Given the description of an element on the screen output the (x, y) to click on. 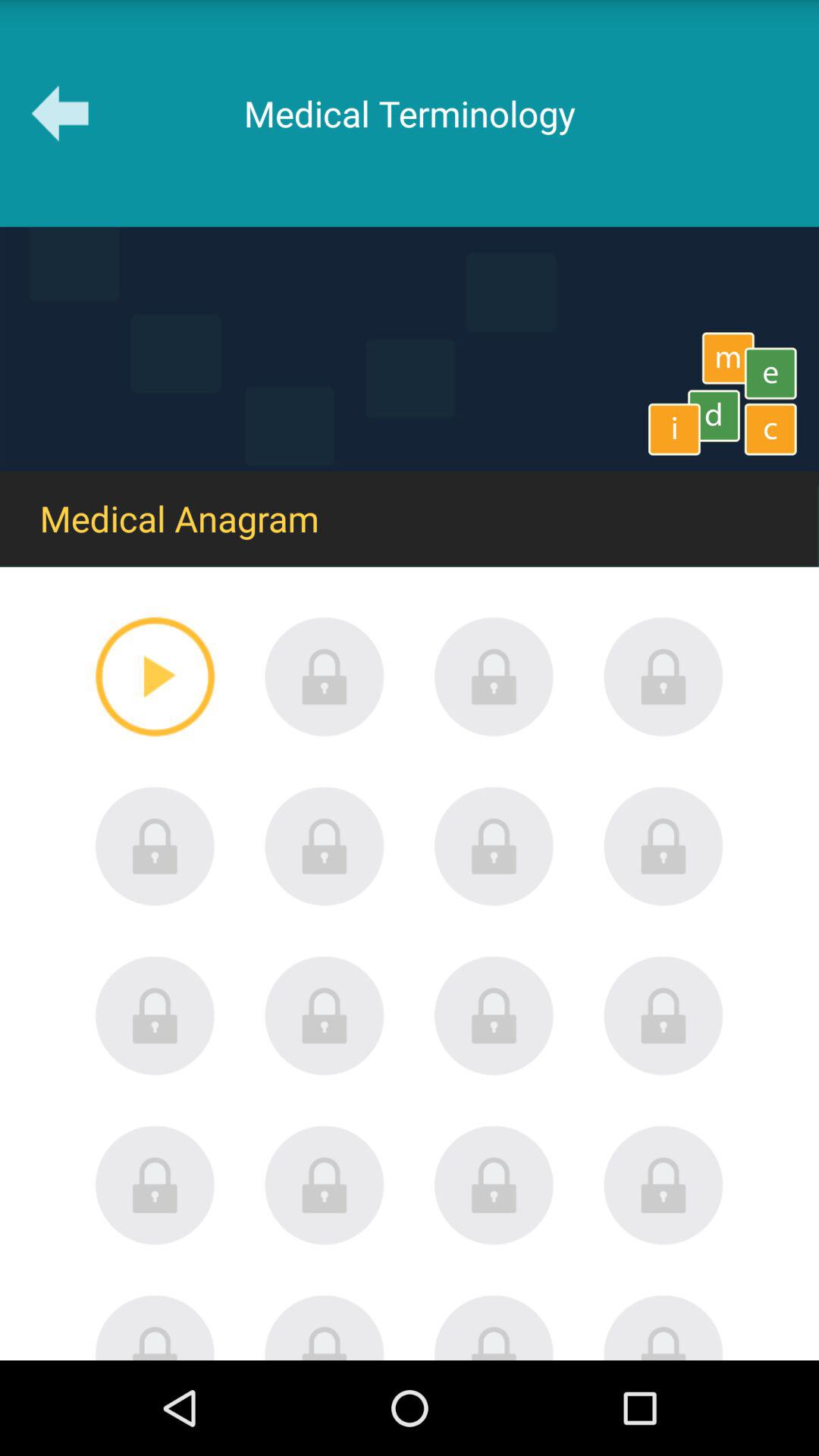
password (663, 1015)
